Given the description of an element on the screen output the (x, y) to click on. 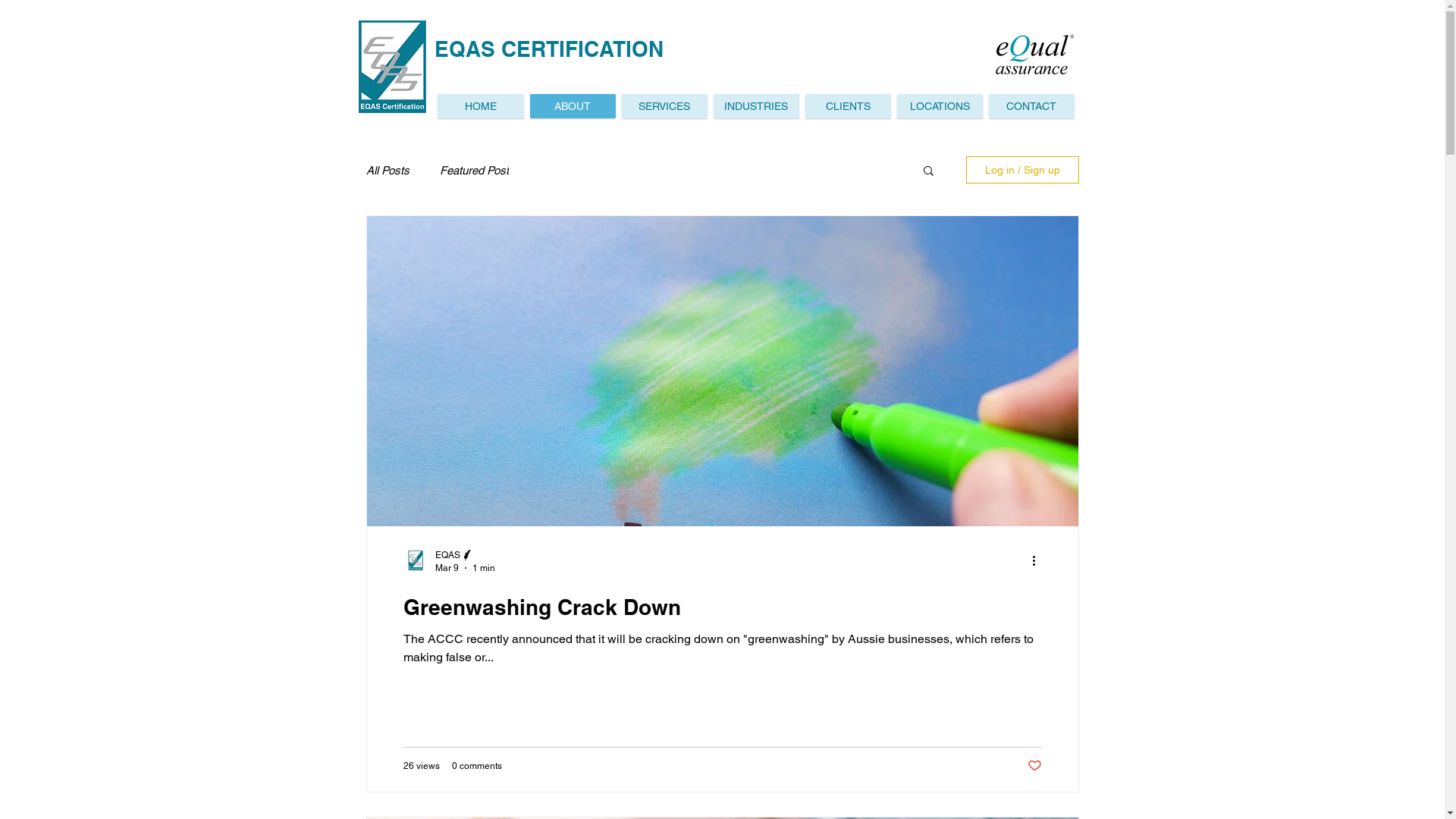
Post not marked as liked Element type: text (1033, 766)
Featured Post Element type: text (473, 169)
SERVICES Element type: text (664, 106)
CLIENTS Element type: text (848, 106)
Greenwashing Crack Down Element type: text (722, 606)
CONTACT Element type: text (1031, 106)
0 comments Element type: text (476, 765)
Log in / Sign up Element type: text (1022, 169)
All Posts Element type: text (386, 169)
INDUSTRIES Element type: text (755, 106)
ABOUT Element type: text (572, 106)
HOME Element type: text (479, 106)
